Given the description of an element on the screen output the (x, y) to click on. 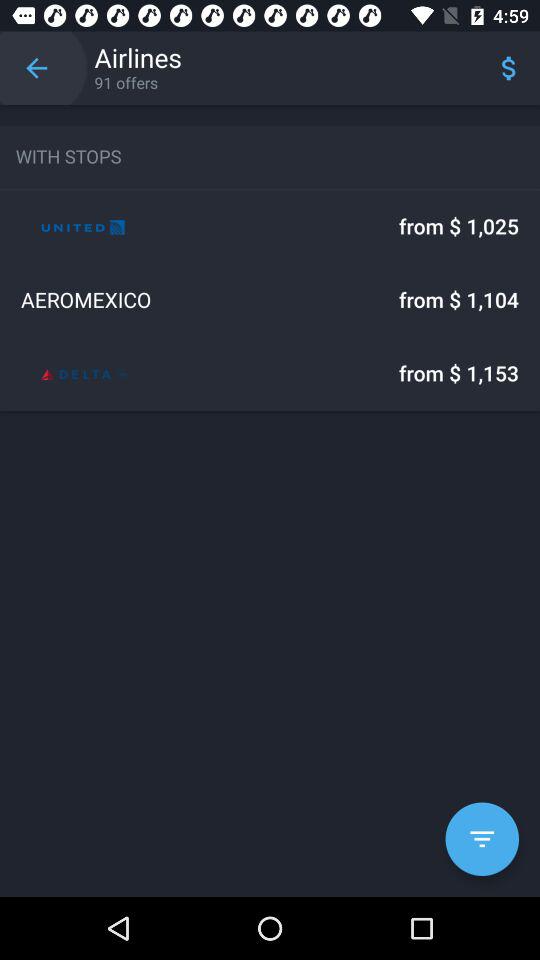
click item above the with stops icon (36, 68)
